Given the description of an element on the screen output the (x, y) to click on. 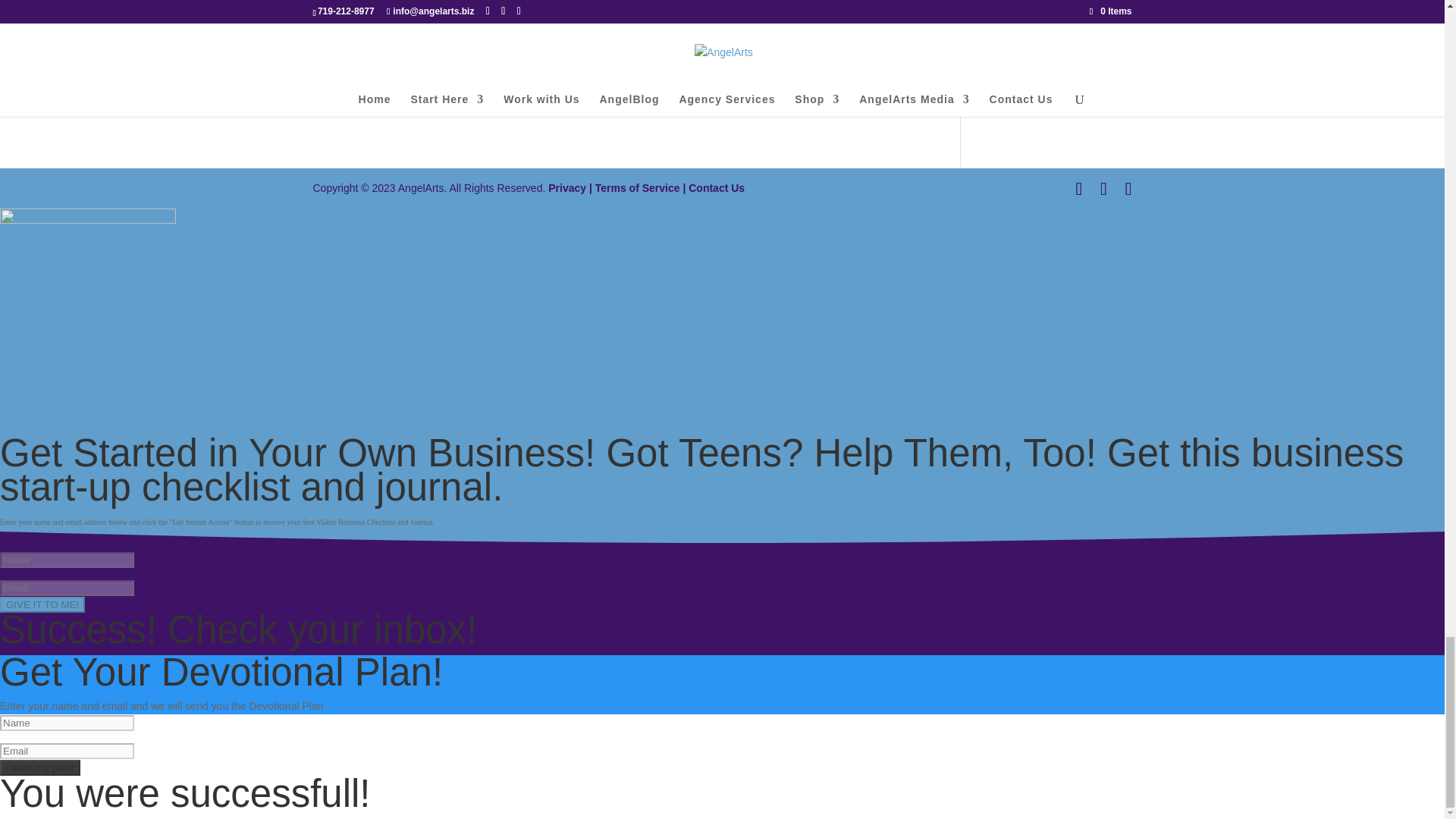
Submit Comment (840, 18)
